Given the description of an element on the screen output the (x, y) to click on. 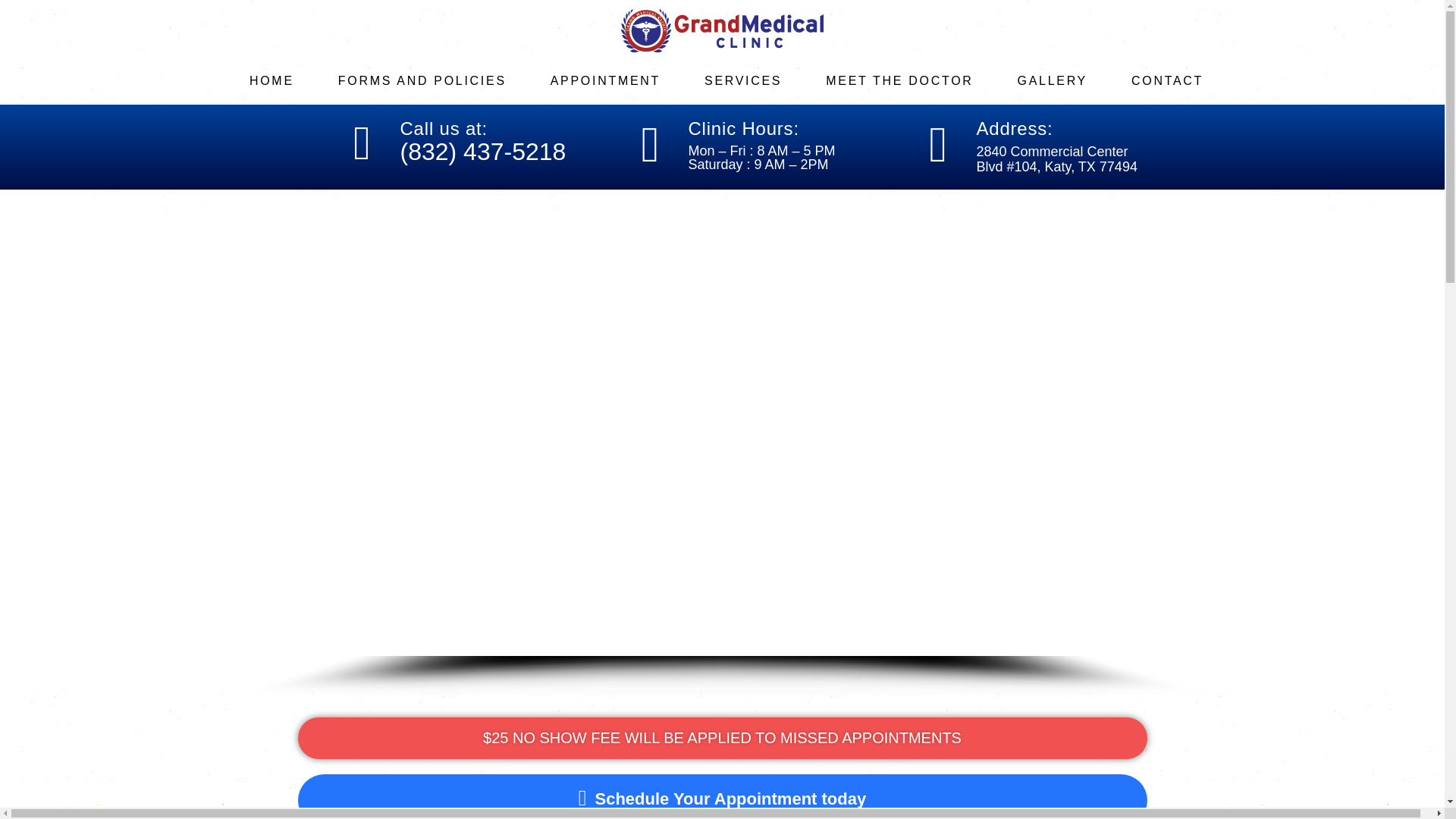
CONTACT (1178, 80)
Schedule Your Appointment today (394, 796)
APPOINTMENT (617, 80)
GALLERY (1064, 80)
HOME (282, 80)
SERVICES (754, 80)
MEET THE DOCTOR (910, 80)
FORMS AND POLICIES (433, 80)
